Given the description of an element on the screen output the (x, y) to click on. 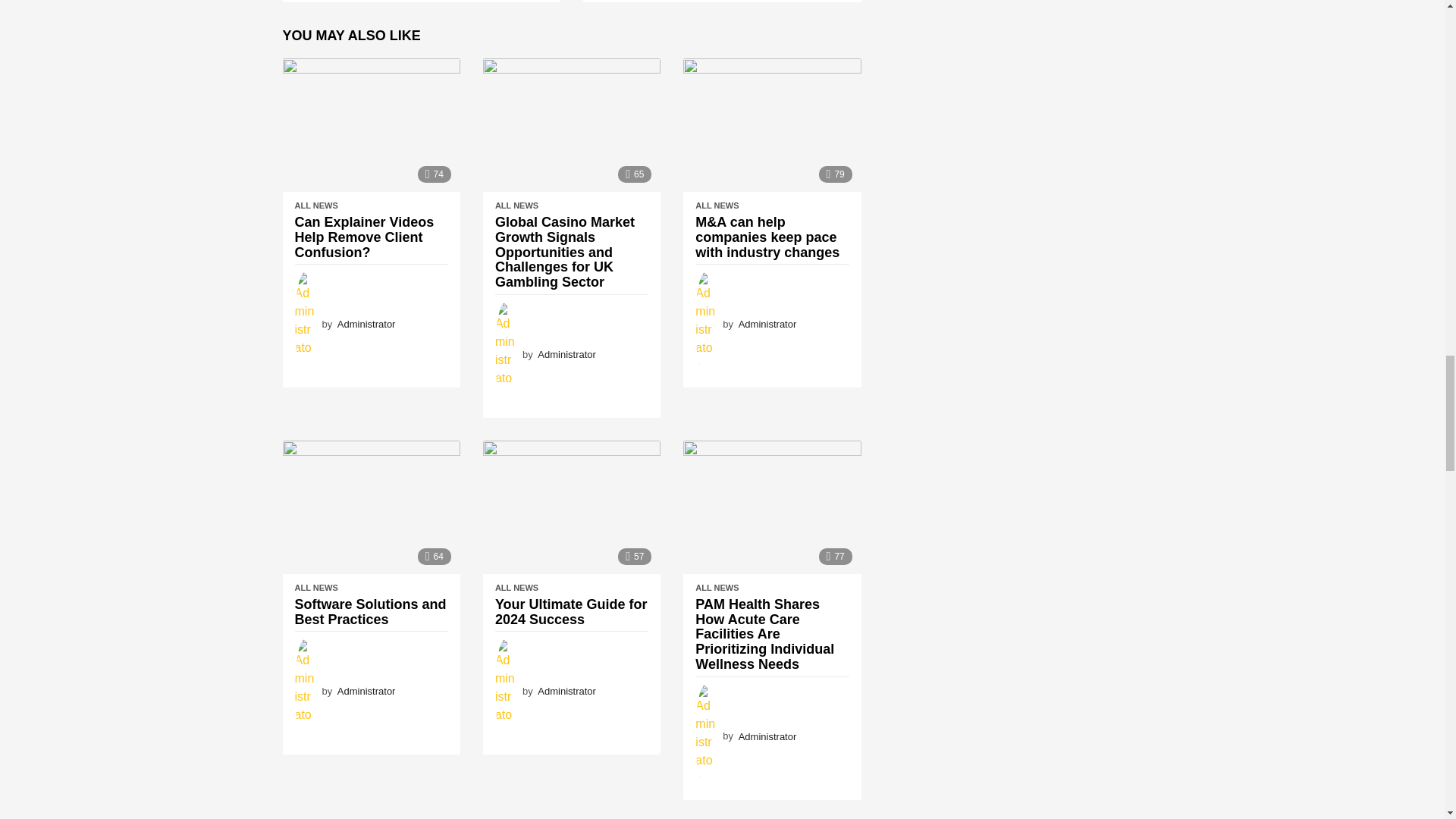
Your Ultimate Guide for 2024 Success (572, 507)
Can Explainer Videos Help Remove Client Confusion? (371, 124)
Software Solutions and Best Practices (371, 507)
